Given the description of an element on the screen output the (x, y) to click on. 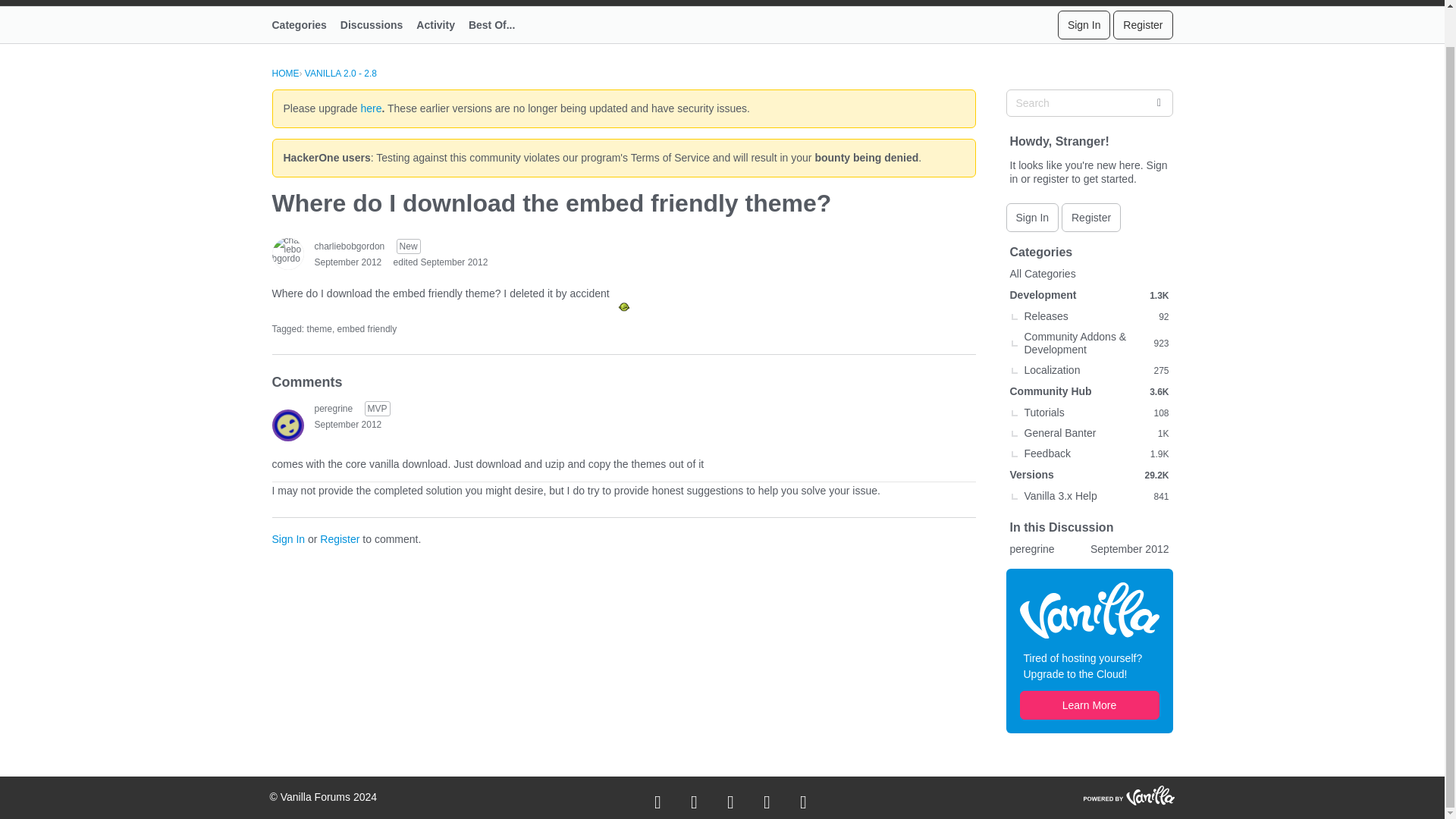
Activity (442, 24)
Edited September 2, 2012 4:23PM by charliebobgordon. (440, 262)
Best Of... (498, 24)
HOME (284, 72)
embed friendly (367, 328)
Sign In (1032, 217)
1,290 discussions (1159, 295)
charliebobgordon (349, 246)
Register (339, 539)
Enter your search term. (1089, 103)
